Given the description of an element on the screen output the (x, y) to click on. 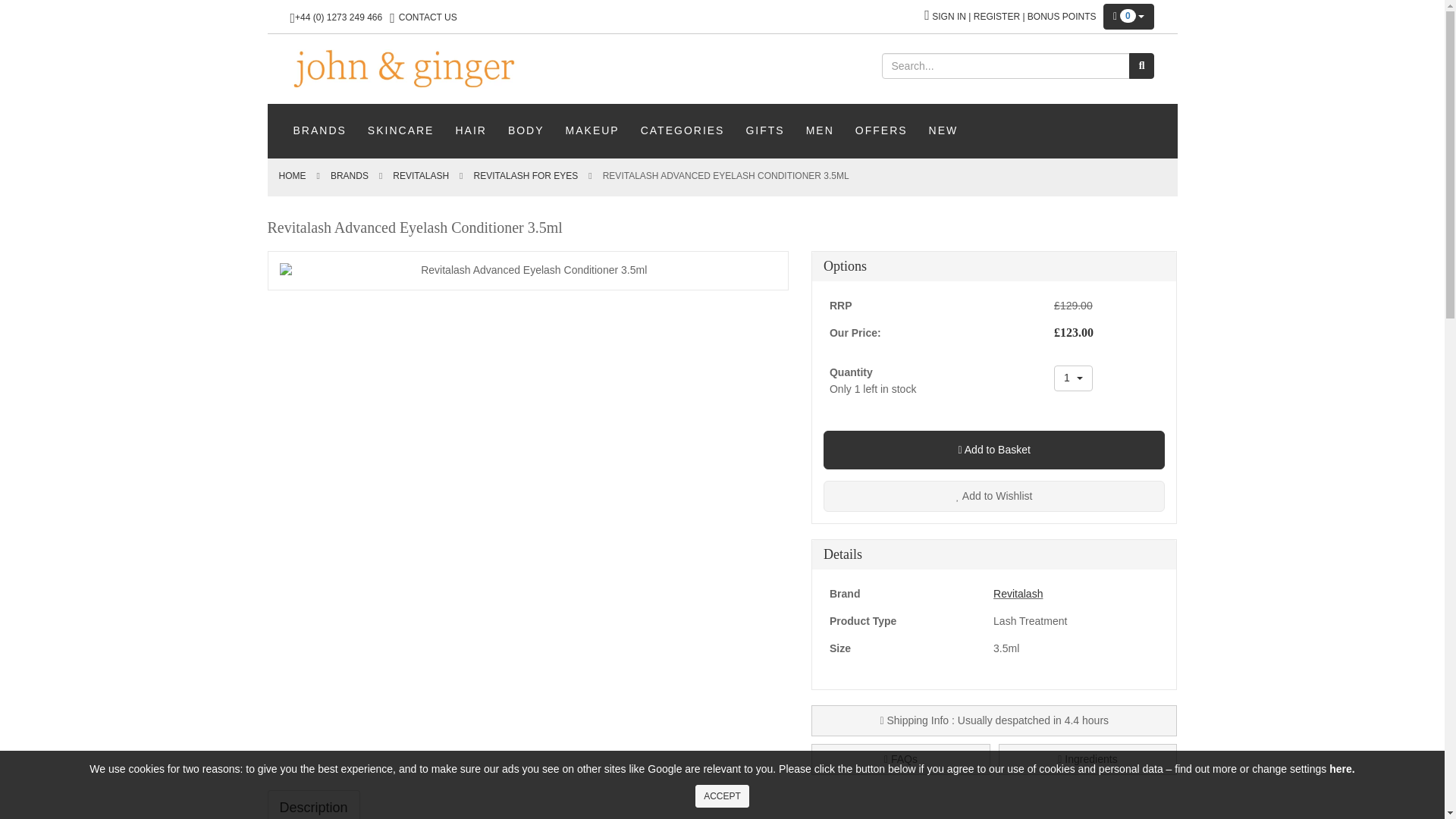
BRANDS (319, 130)
here. (1341, 768)
HAIR (470, 130)
 Add to Basket (995, 449)
BODY (525, 130)
MEN (819, 130)
Revitalash (1073, 378)
Revitalash Advanced Eyelash Conditioner 3.5ml (420, 175)
CONTACT US (527, 270)
ACCEPT (427, 17)
Ingredients (722, 795)
CATEGORIES (1087, 758)
 Add to Wishlist (682, 130)
